Given the description of an element on the screen output the (x, y) to click on. 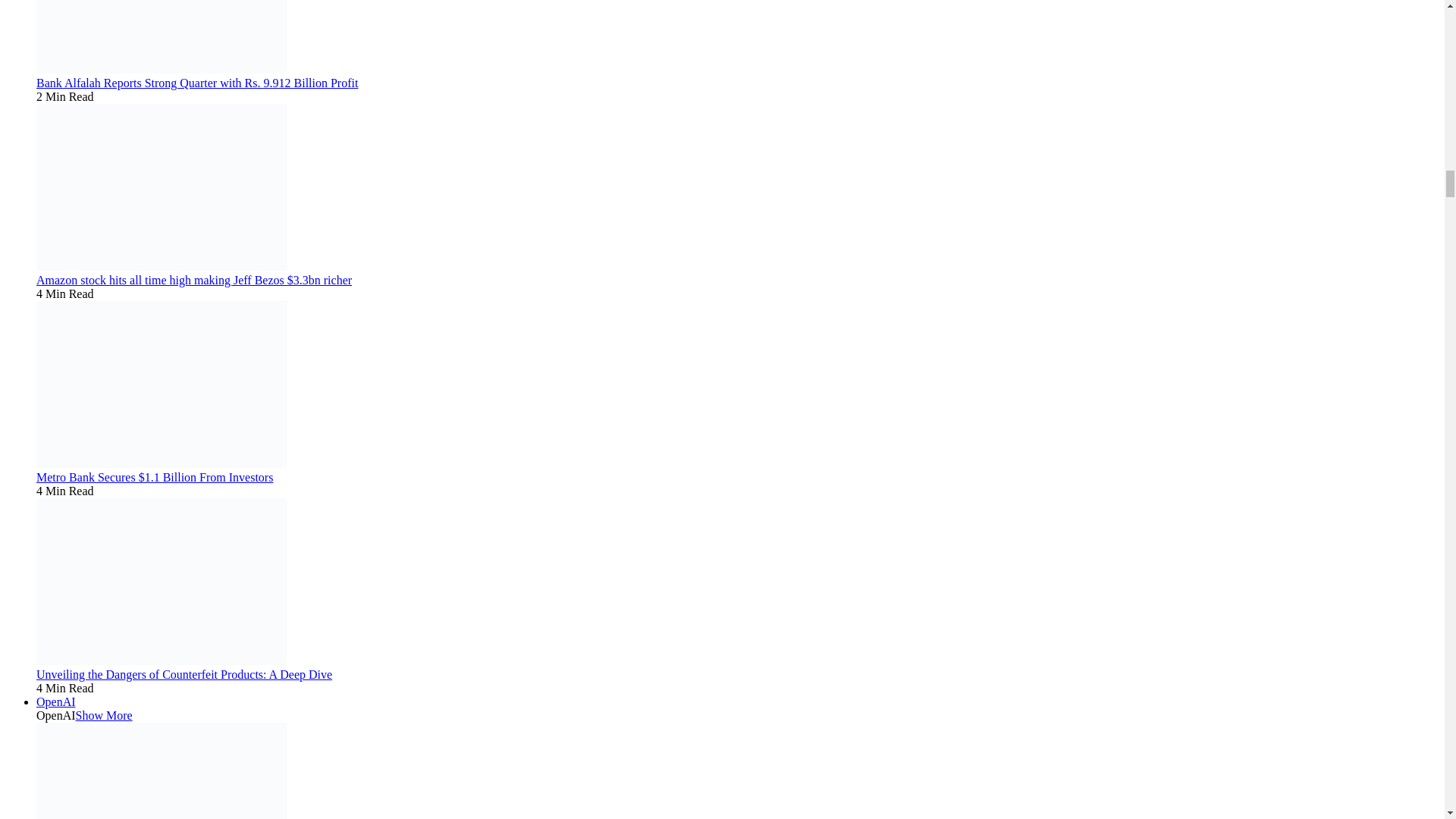
OpenAI (55, 701)
Show More (103, 715)
Unveiling the Dangers of Counterfeit Products: A Deep Dive (183, 674)
